Given the description of an element on the screen output the (x, y) to click on. 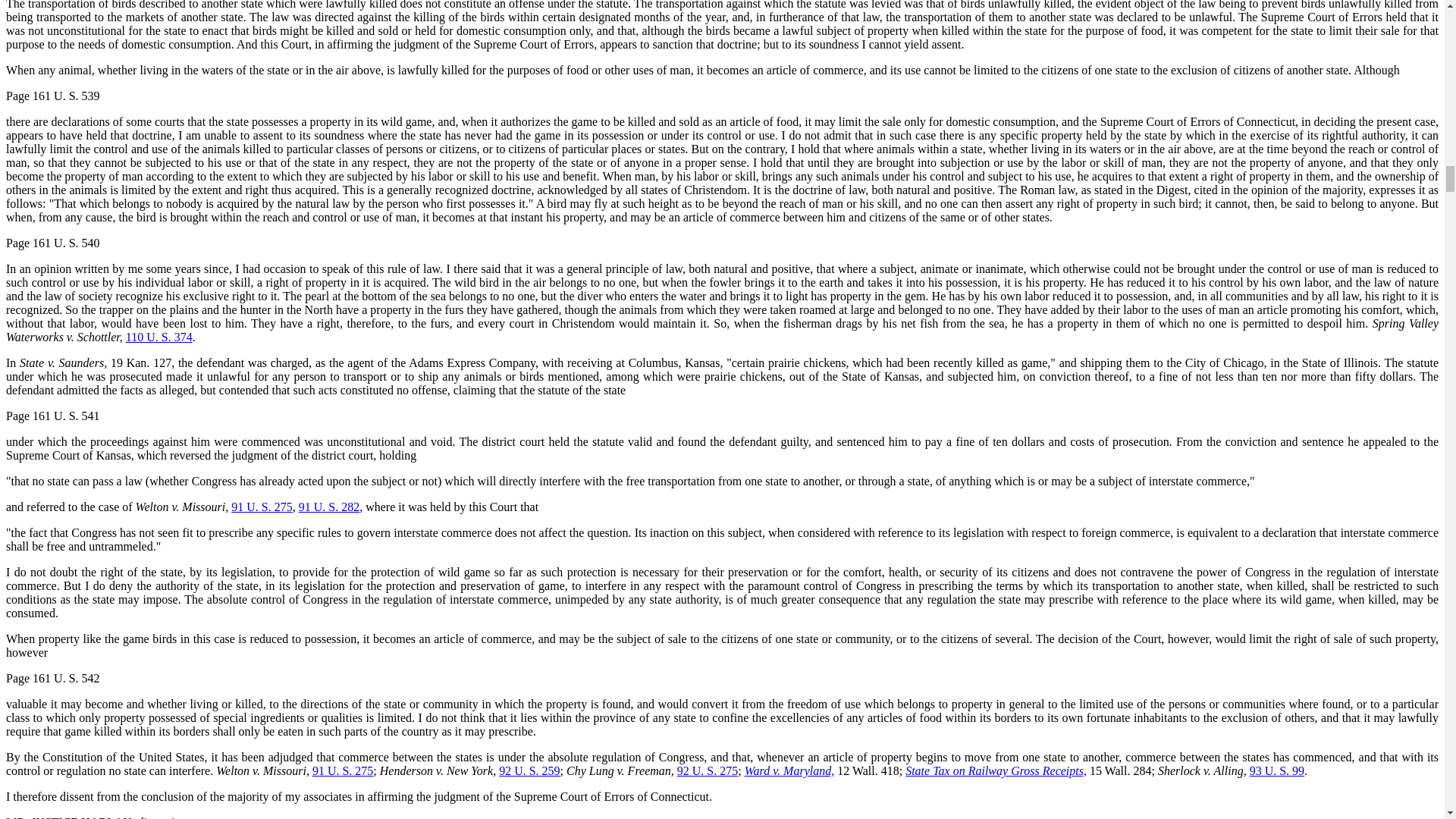
110 U. S. 374 (158, 336)
Page 161 U. S. 540 (52, 242)
Page 161 U. S. 539 (52, 95)
